Given the description of an element on the screen output the (x, y) to click on. 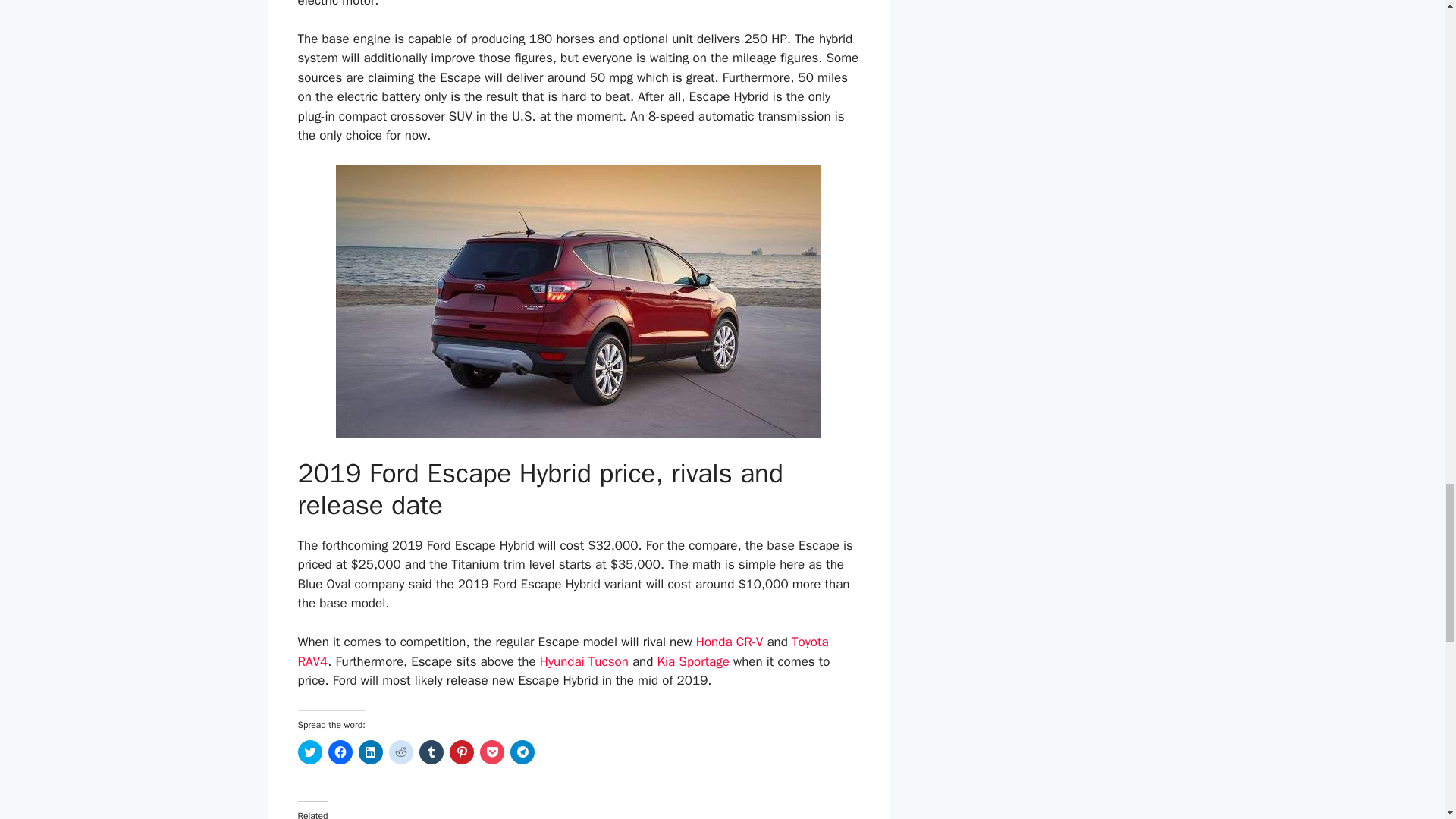
Hyundai Tucson (584, 661)
Click to share on Reddit (400, 752)
Click to share on Telegram (521, 752)
Click to share on Pocket (491, 752)
Click to share on Facebook (339, 752)
Kia Sportage (692, 661)
Toyota RAV4 (562, 651)
Click to share on Pinterest (460, 752)
Click to share on Twitter (309, 752)
Click to share on Tumblr (430, 752)
